Given the description of an element on the screen output the (x, y) to click on. 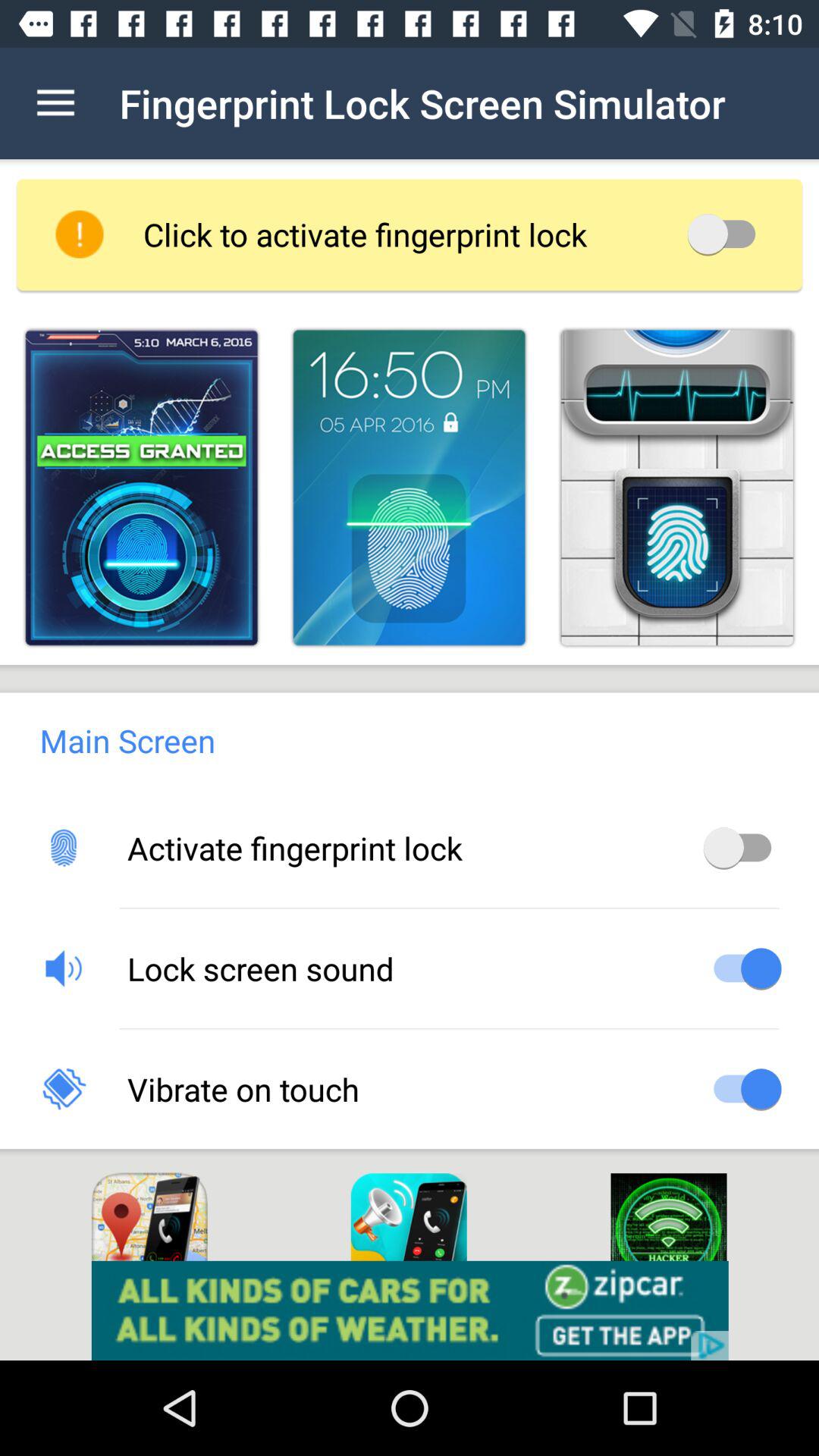
select for activation (141, 487)
